Given the description of an element on the screen output the (x, y) to click on. 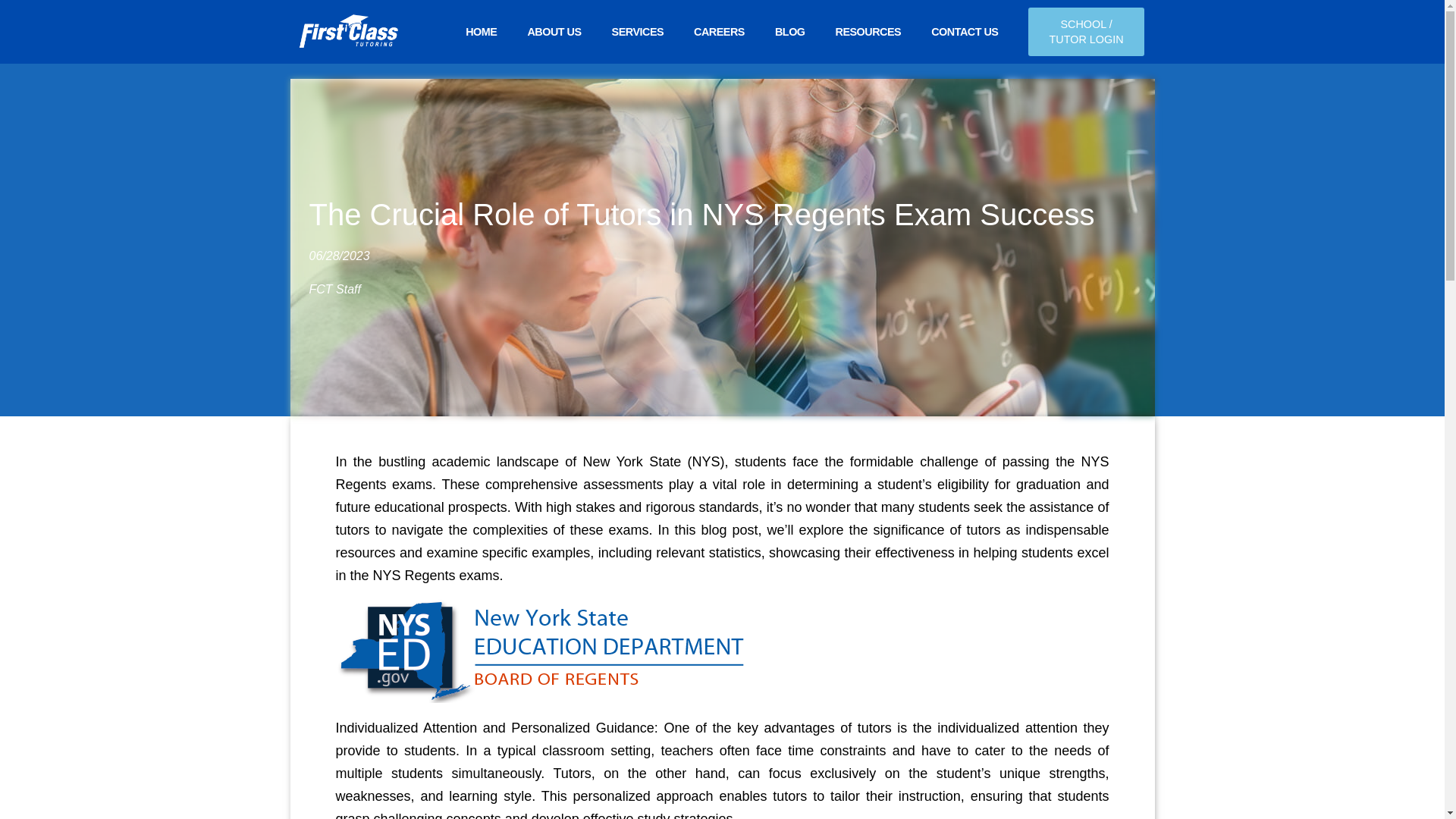
SERVICES (637, 10)
RESOURCES (869, 12)
HOME (480, 8)
BLOG (790, 11)
CAREERS (719, 11)
ABOUT US (553, 9)
CONTACT US (964, 13)
